Given the description of an element on the screen output the (x, y) to click on. 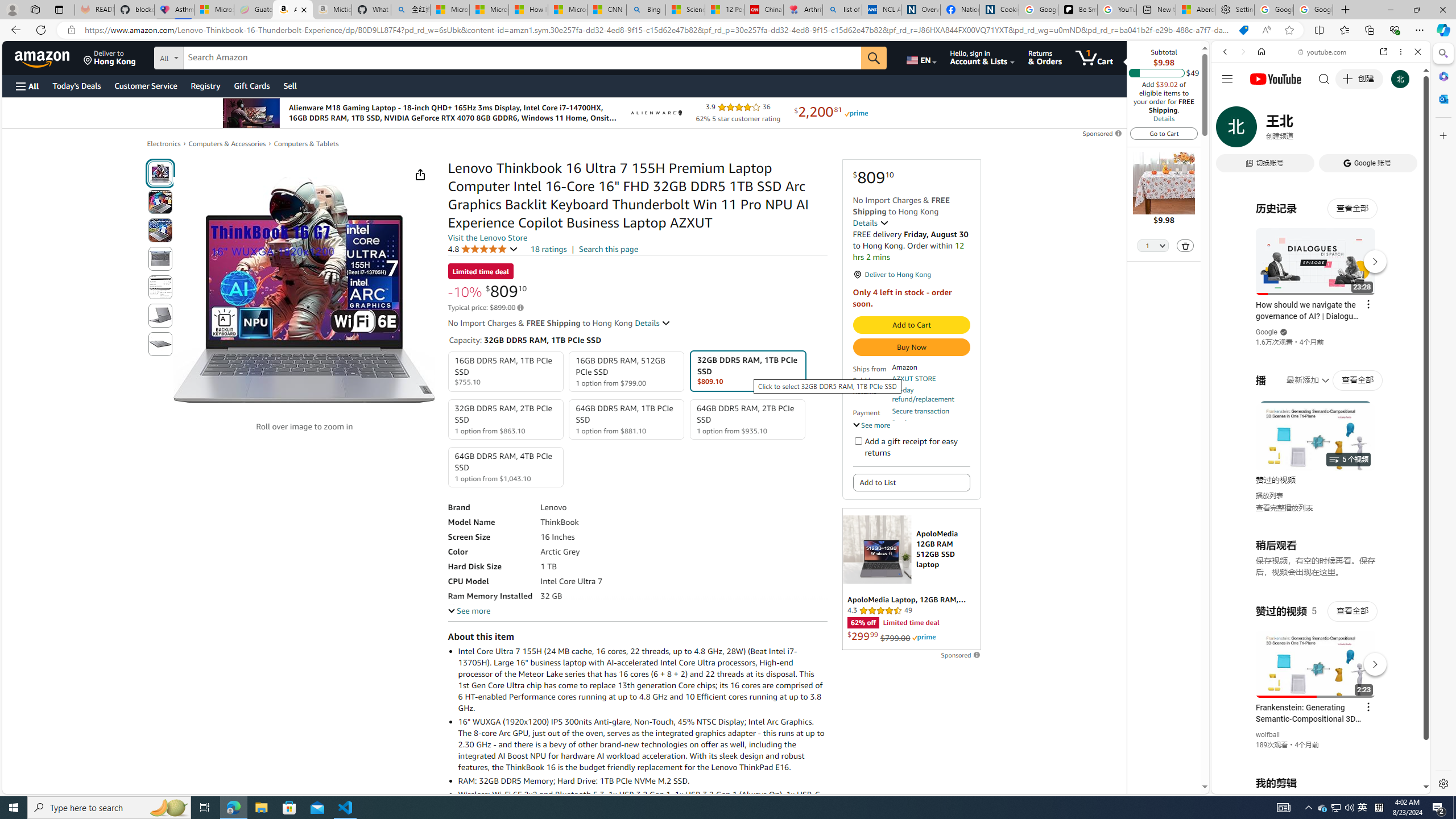
wolfball (1268, 734)
Go to Cart (1163, 133)
Add a gift receipt for easy returns (857, 440)
Add to Cart (911, 324)
32GB DDR5 RAM, 2TB PCIe SSD 1 option from $863.10 (505, 418)
Trailer #2 [HD] (1320, 337)
Search this page (608, 248)
Prime (923, 637)
Details  (652, 322)
